Given the description of an element on the screen output the (x, y) to click on. 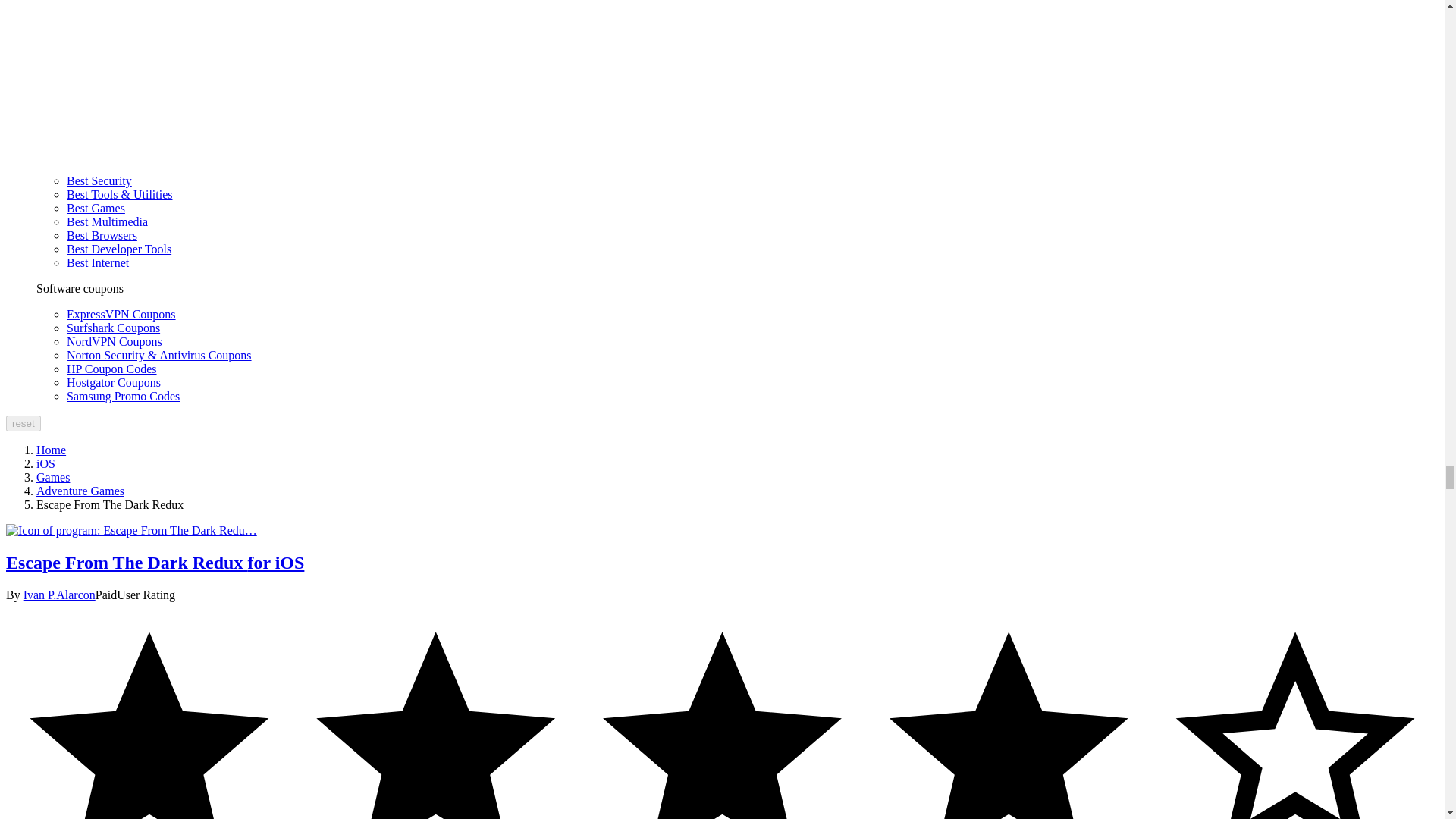
Escape From The Dark Redux for iOS (131, 530)
reset (22, 423)
